Given the description of an element on the screen output the (x, y) to click on. 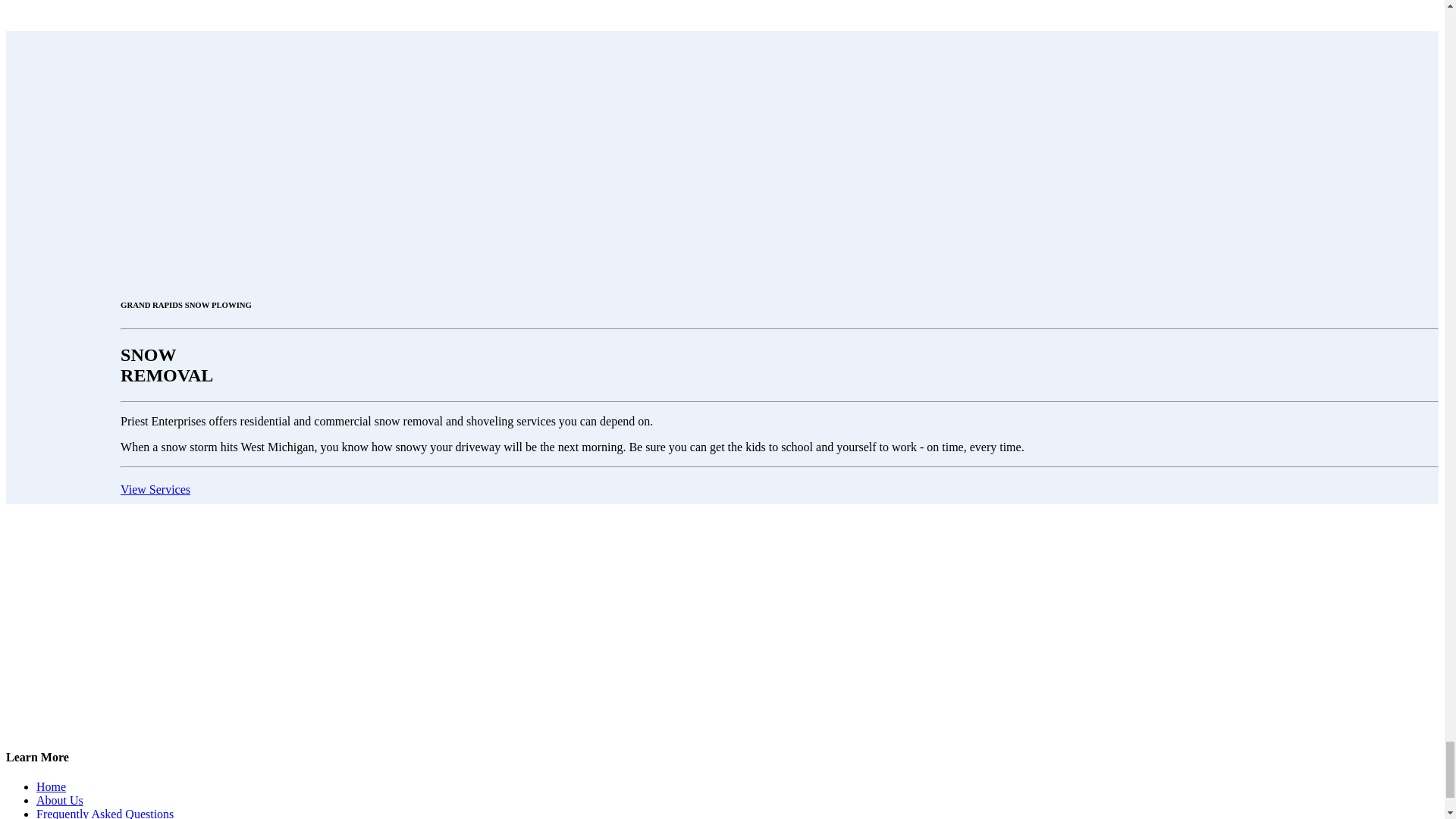
Home (50, 786)
About Us (59, 799)
View Services (155, 489)
Frequently Asked Questions (104, 813)
